Given the description of an element on the screen output the (x, y) to click on. 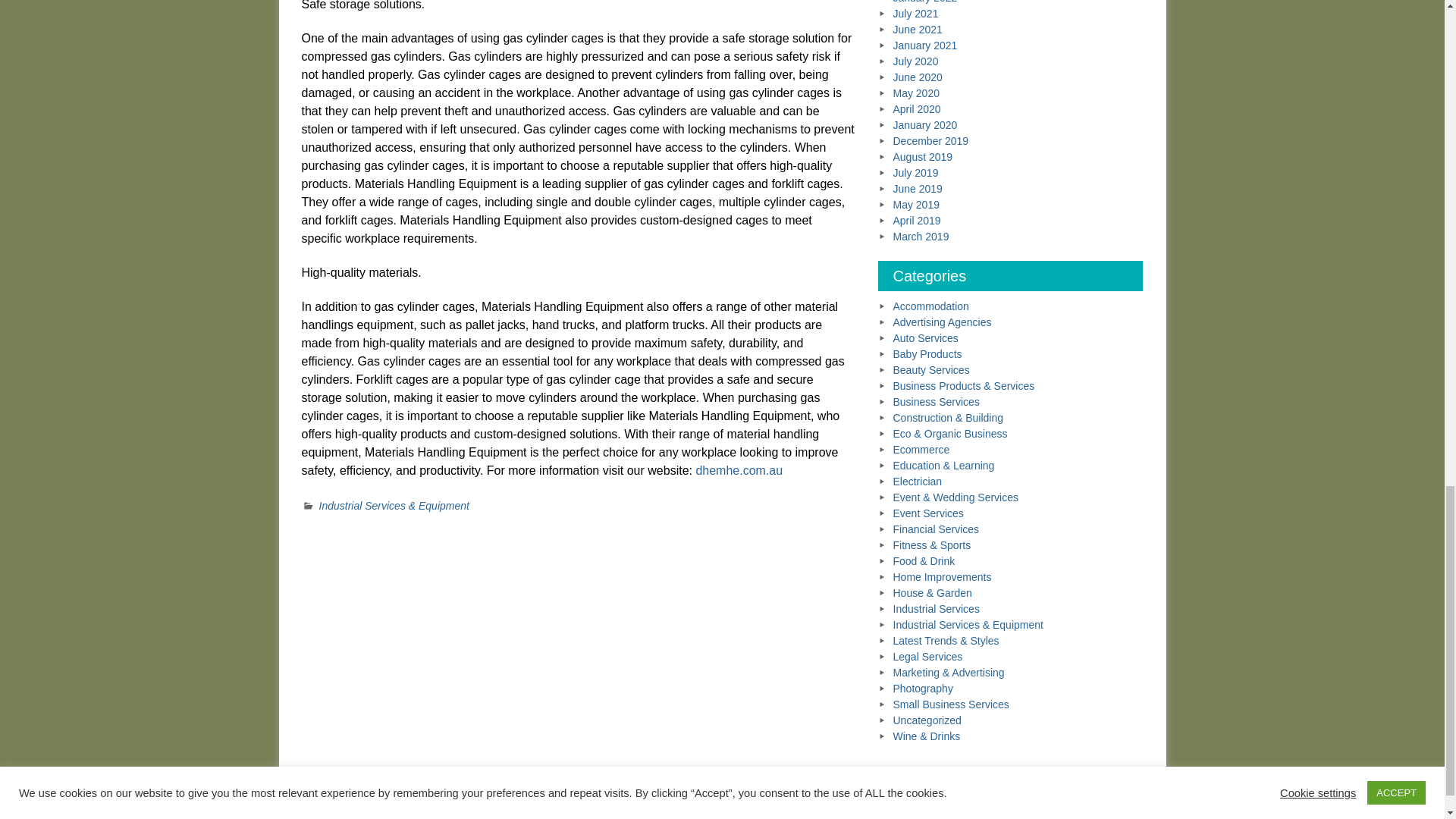
dhemhe.com.au (739, 470)
dhemhe.com.au (739, 470)
